Given the description of an element on the screen output the (x, y) to click on. 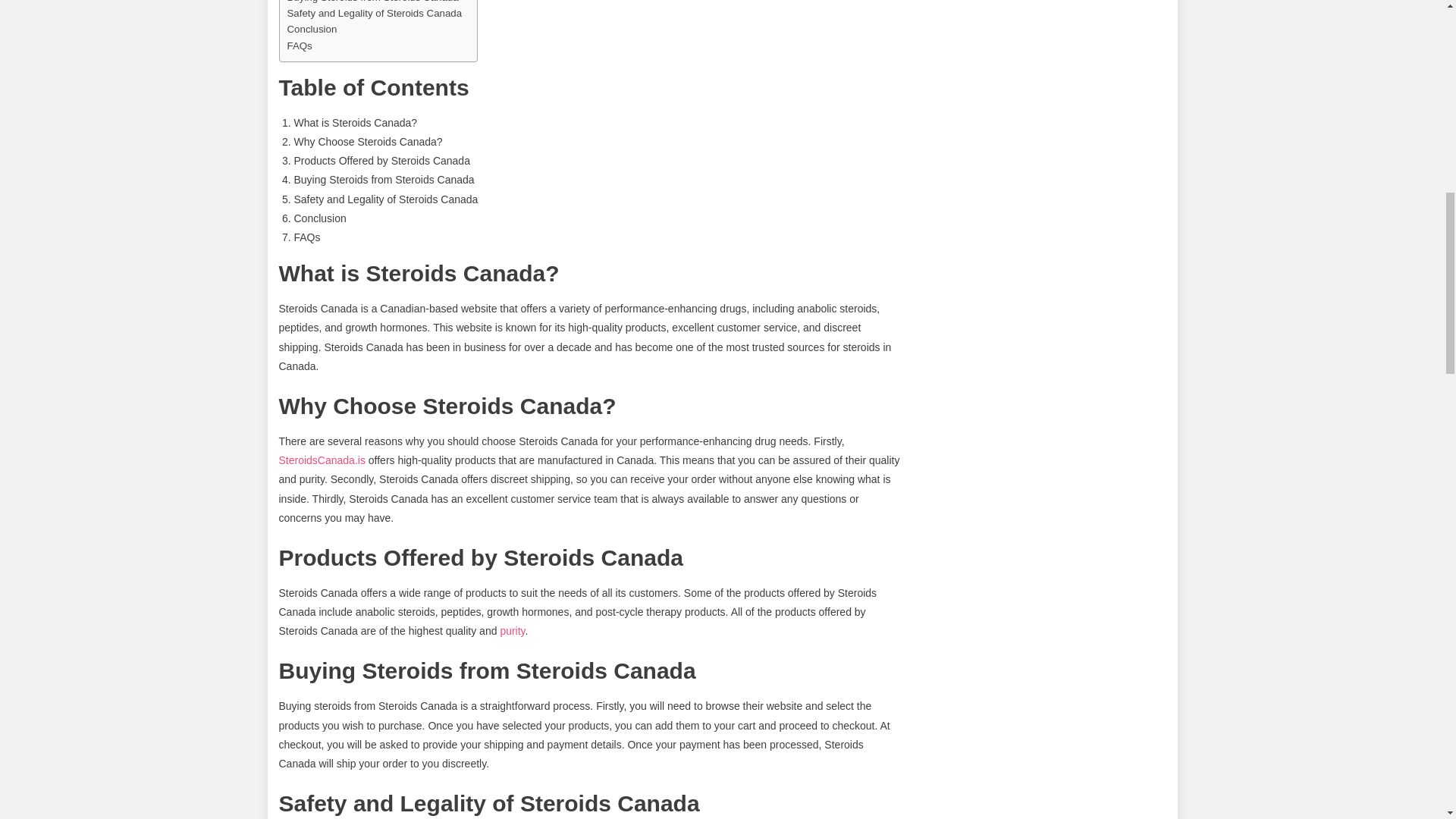
Safety and Legality of Steroids Canada (373, 12)
FAQs (298, 45)
Buying Steroids from Steroids Canada (372, 2)
Conclusion (311, 28)
Safety and Legality of Steroids Canada (373, 12)
FAQs (298, 45)
Conclusion (311, 28)
Buying Steroids from Steroids Canada (372, 2)
purity (511, 630)
SteroidsCanada.is (322, 460)
